Given the description of an element on the screen output the (x, y) to click on. 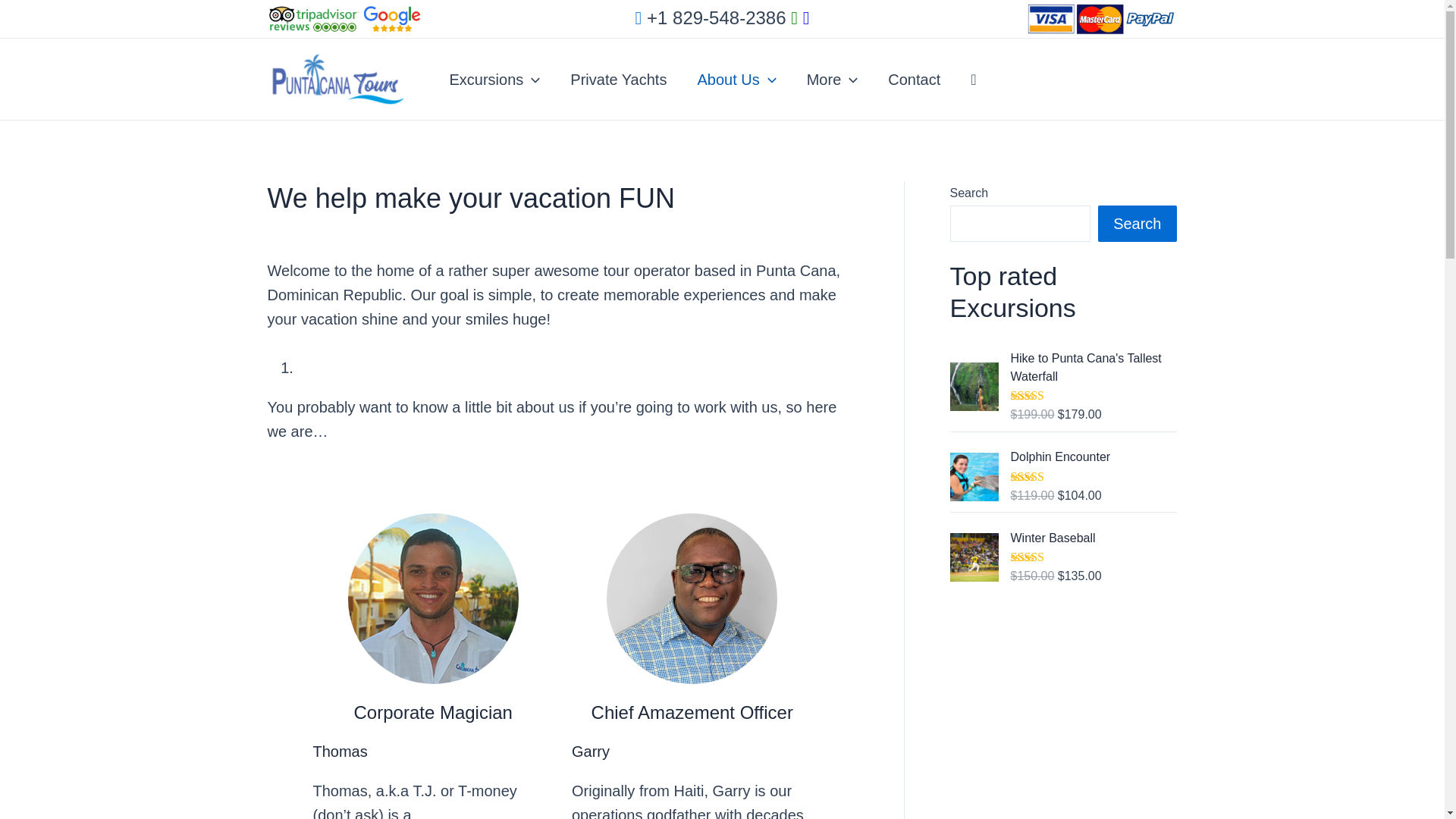
Excursions (493, 79)
Private Yachts (617, 79)
About Us (735, 79)
Contact (913, 79)
More (832, 79)
